Given the description of an element on the screen output the (x, y) to click on. 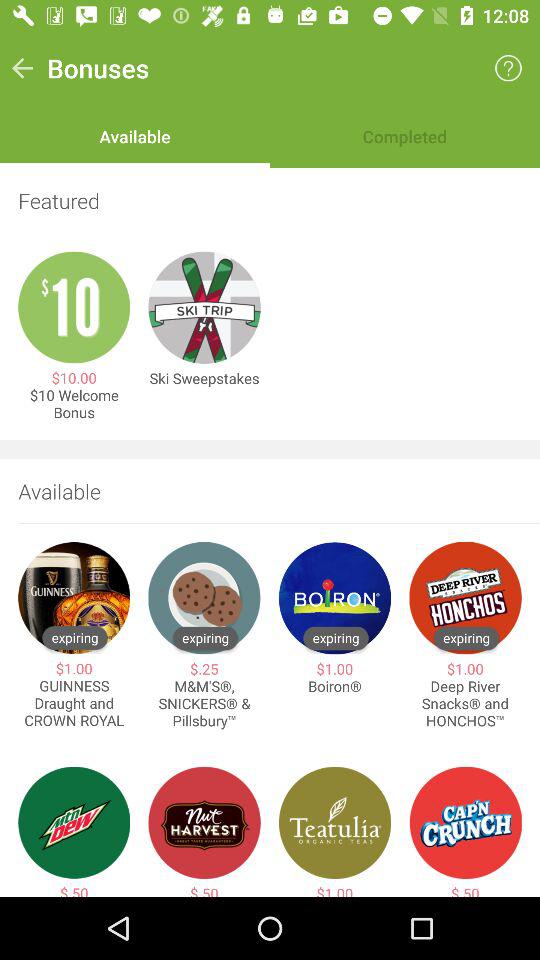
flip until deep river snacks (465, 704)
